Given the description of an element on the screen output the (x, y) to click on. 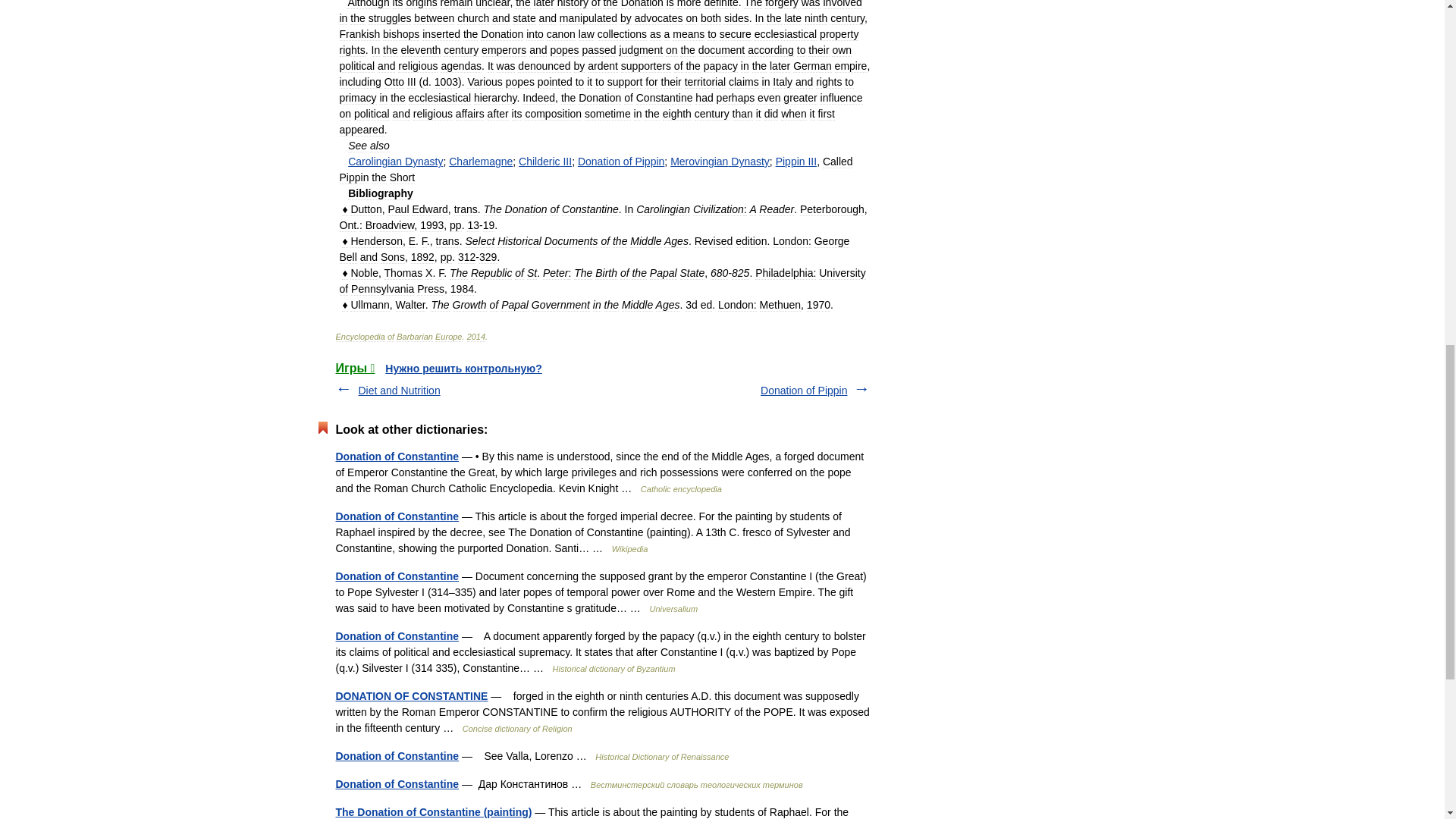
Pippin III (796, 161)
Donation of Constantine (396, 576)
Donation of Constantine (396, 456)
Donation of Constantine (396, 756)
Donation of Constantine (396, 516)
Donation of Constantine (396, 784)
Diet and Nutrition (398, 390)
Donation of Pippin (803, 390)
Donation of Pippin (803, 390)
Childeric III (545, 161)
Diet and Nutrition (398, 390)
Donation of Pippin (620, 161)
Charlemagne (480, 161)
Donation of Constantine (396, 635)
Merovingian Dynasty (719, 161)
